Given the description of an element on the screen output the (x, y) to click on. 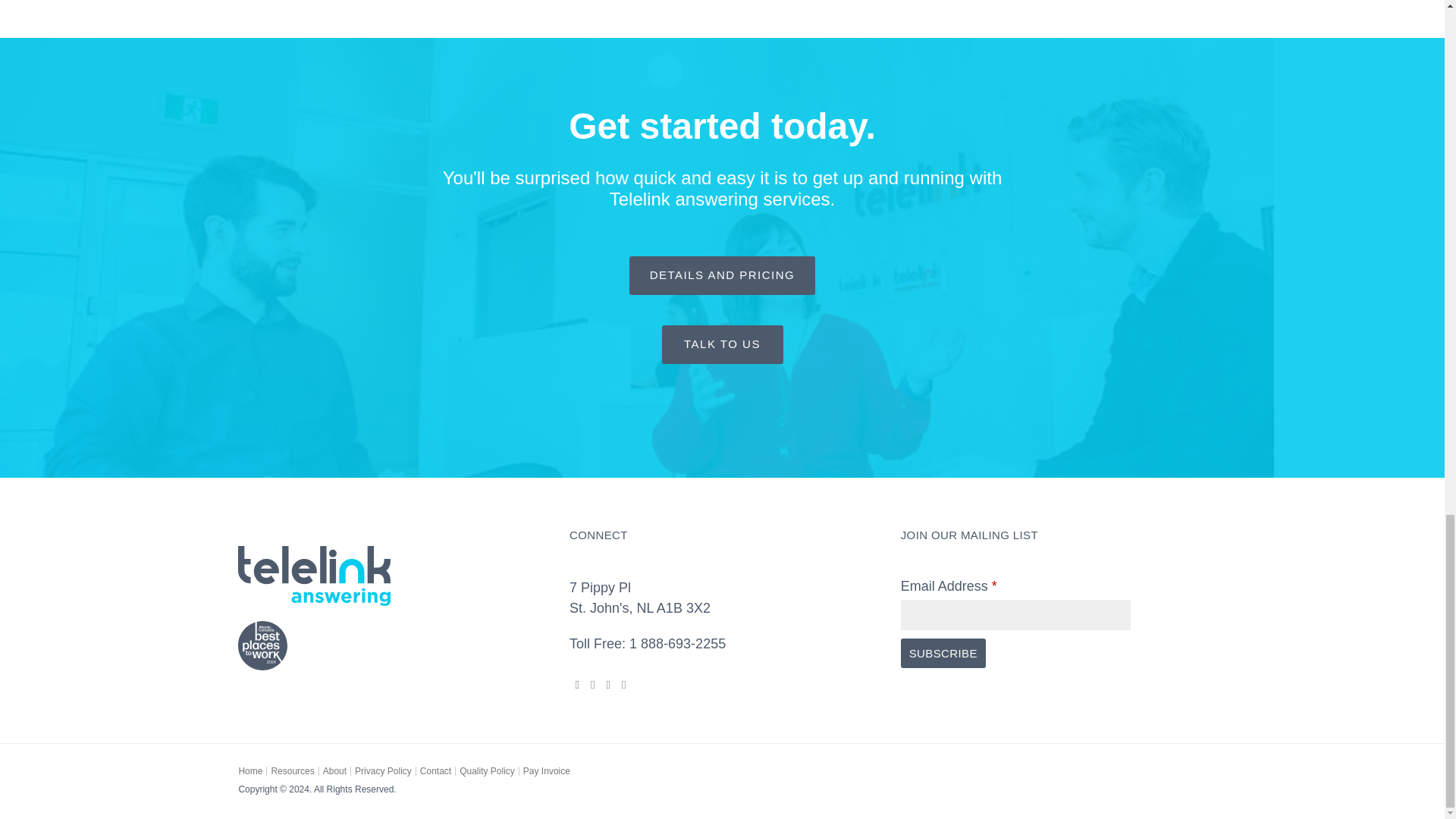
Subscribe (943, 653)
